Given the description of an element on the screen output the (x, y) to click on. 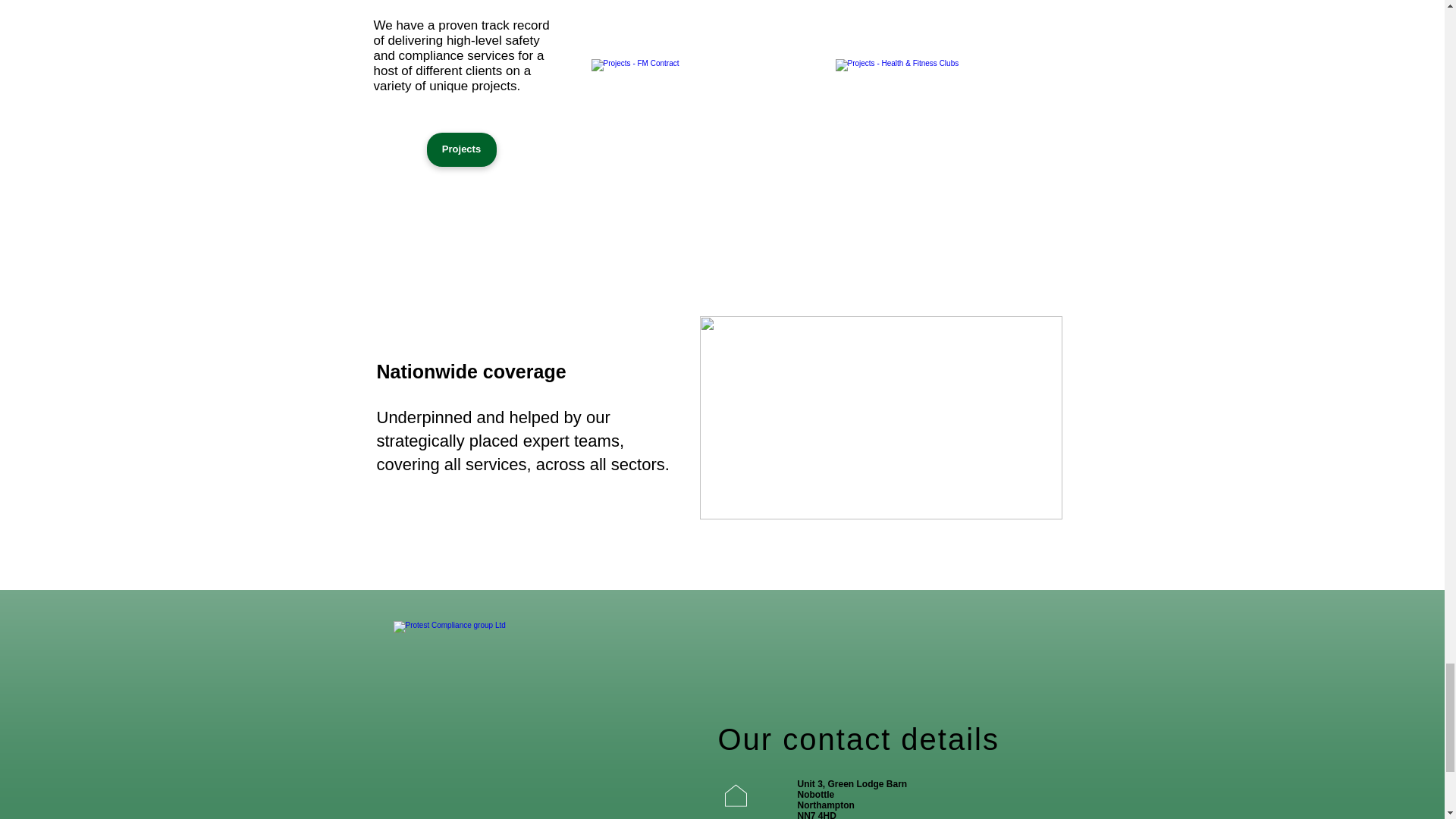
Projects (461, 149)
